Given the description of an element on the screen output the (x, y) to click on. 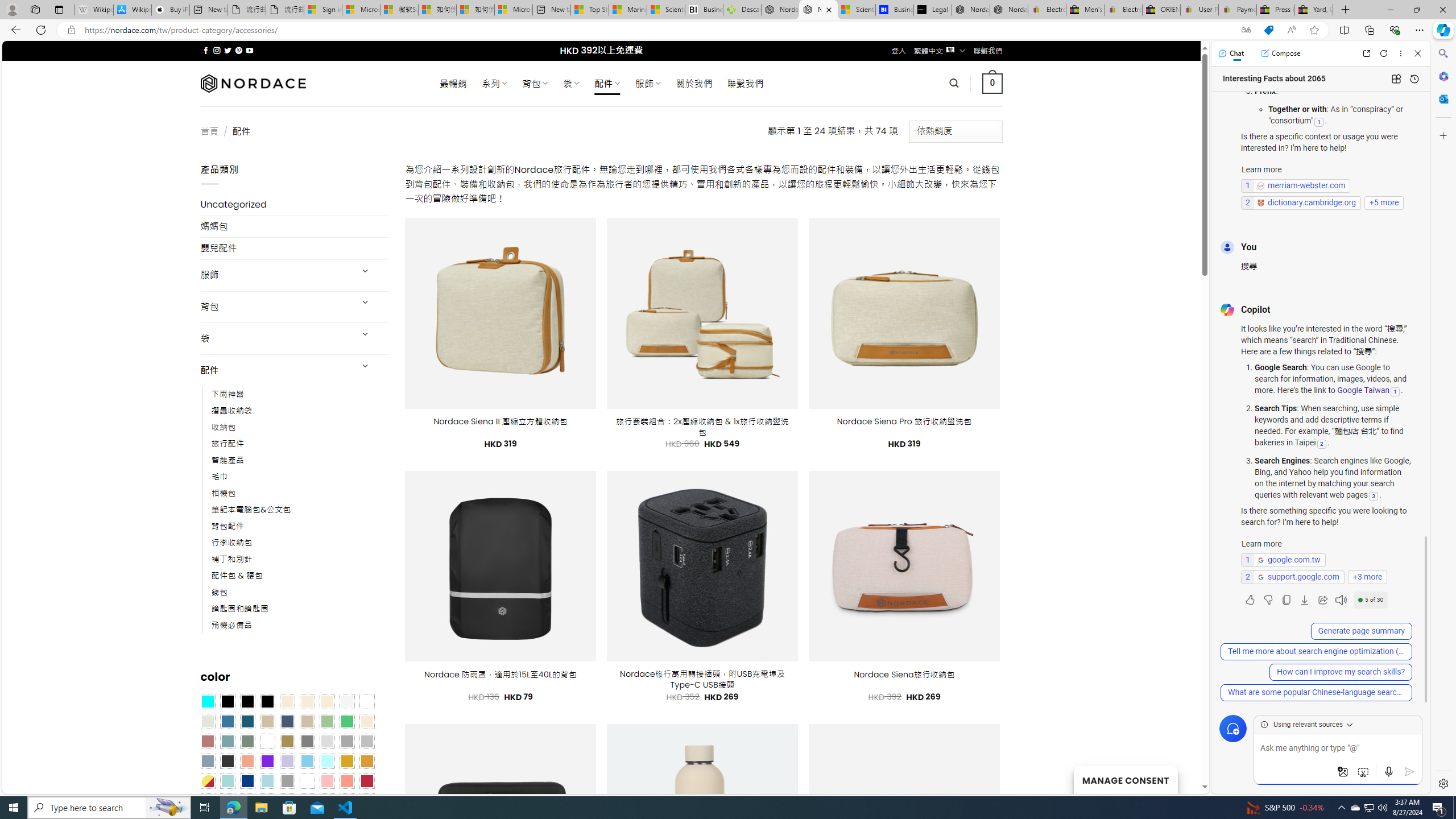
Chat (1231, 52)
MANAGE CONSENT (1125, 779)
Marine life - MSN (628, 9)
